Given the description of an element on the screen output the (x, y) to click on. 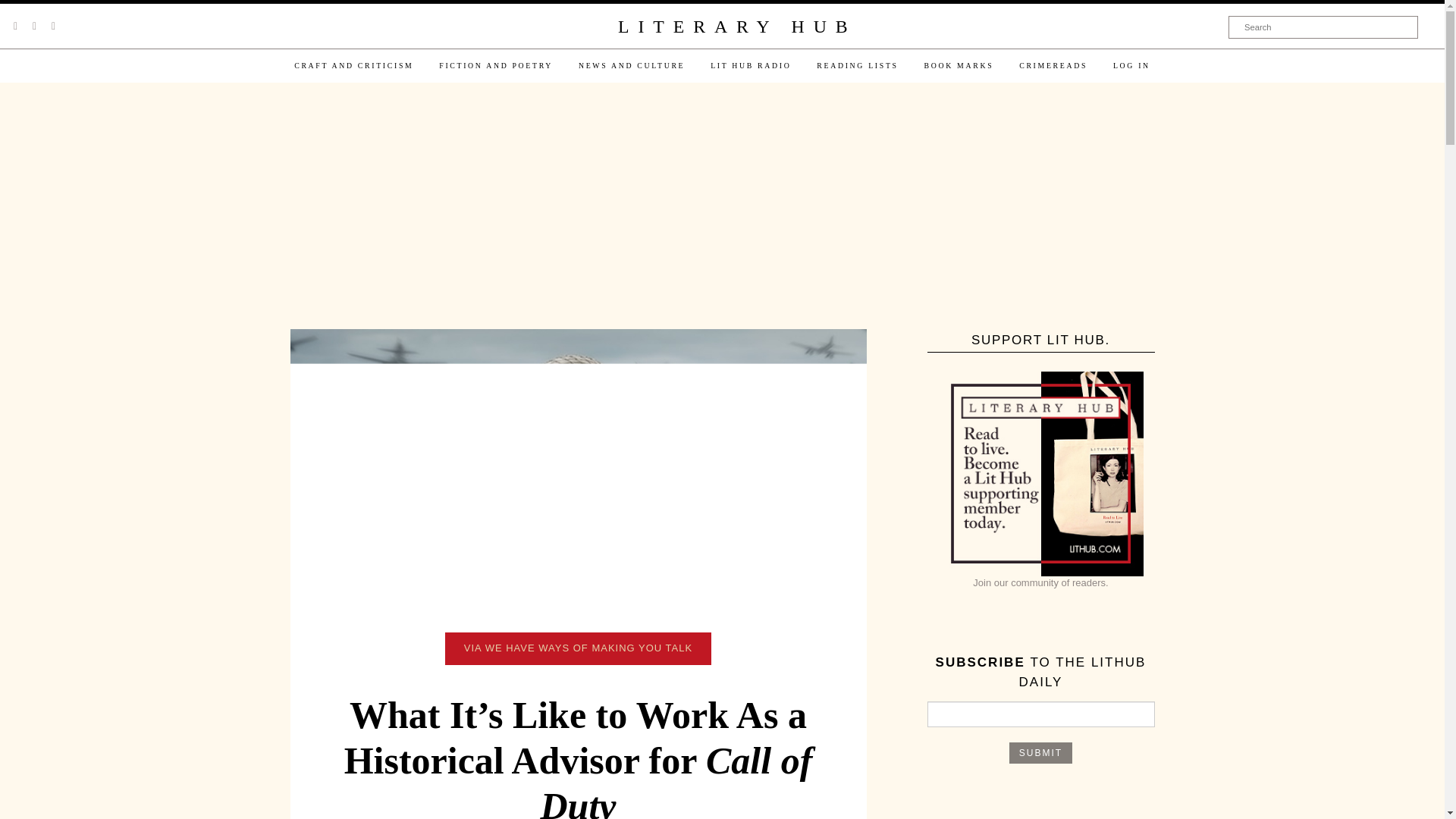
LITERARY HUB (736, 26)
CRAFT AND CRITICISM (353, 65)
FICTION AND POETRY (496, 65)
Search (1323, 26)
NEWS AND CULTURE (631, 65)
